Given the description of an element on the screen output the (x, y) to click on. 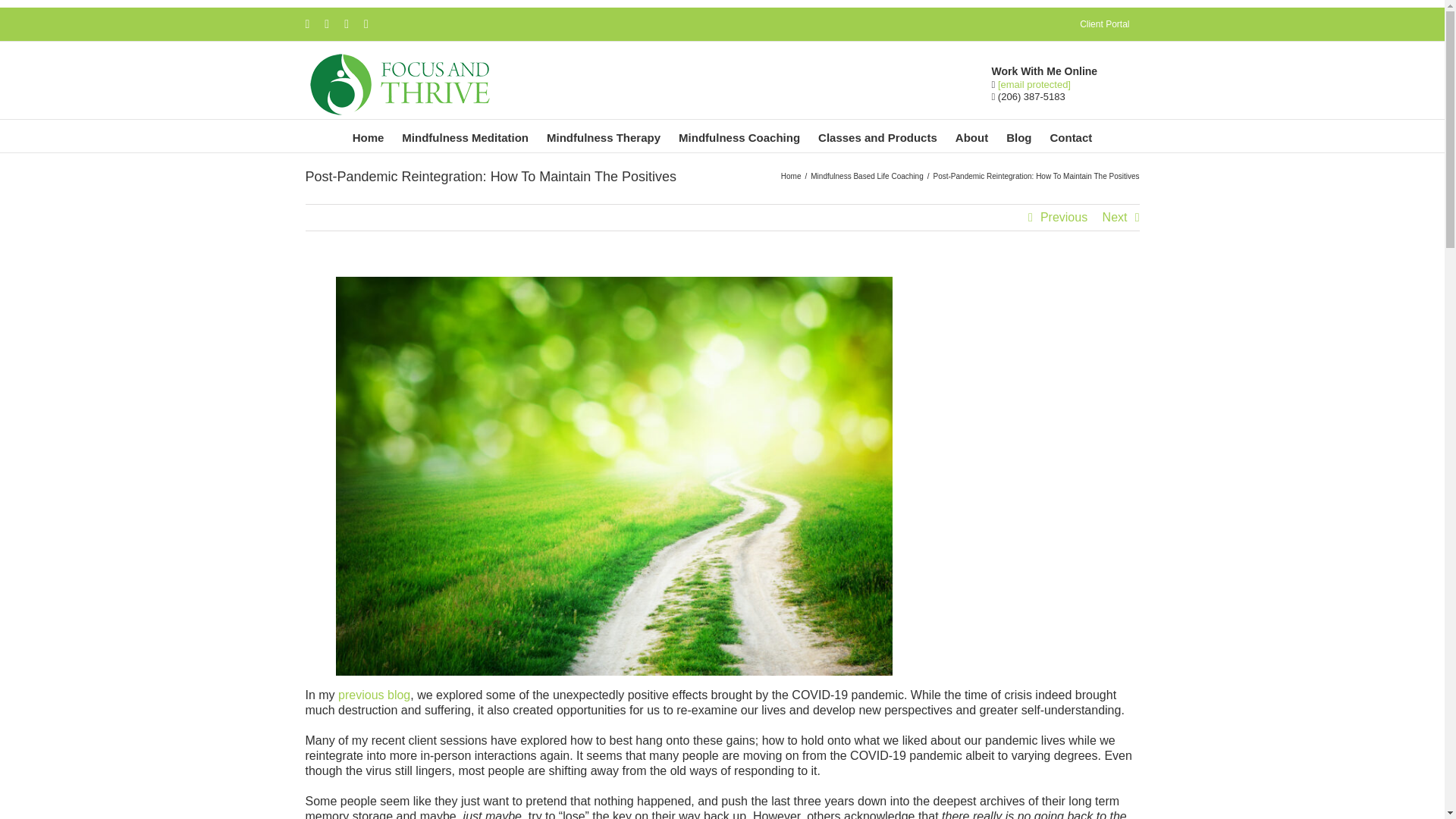
Home (368, 135)
Blog (1019, 135)
Mindfulness Therapy (603, 135)
Contact (1070, 135)
Mindfulness Coaching (739, 135)
Client Portal (1104, 23)
Mindfulness Meditation (464, 135)
About (971, 135)
Classes and Products (876, 135)
